Given the description of an element on the screen output the (x, y) to click on. 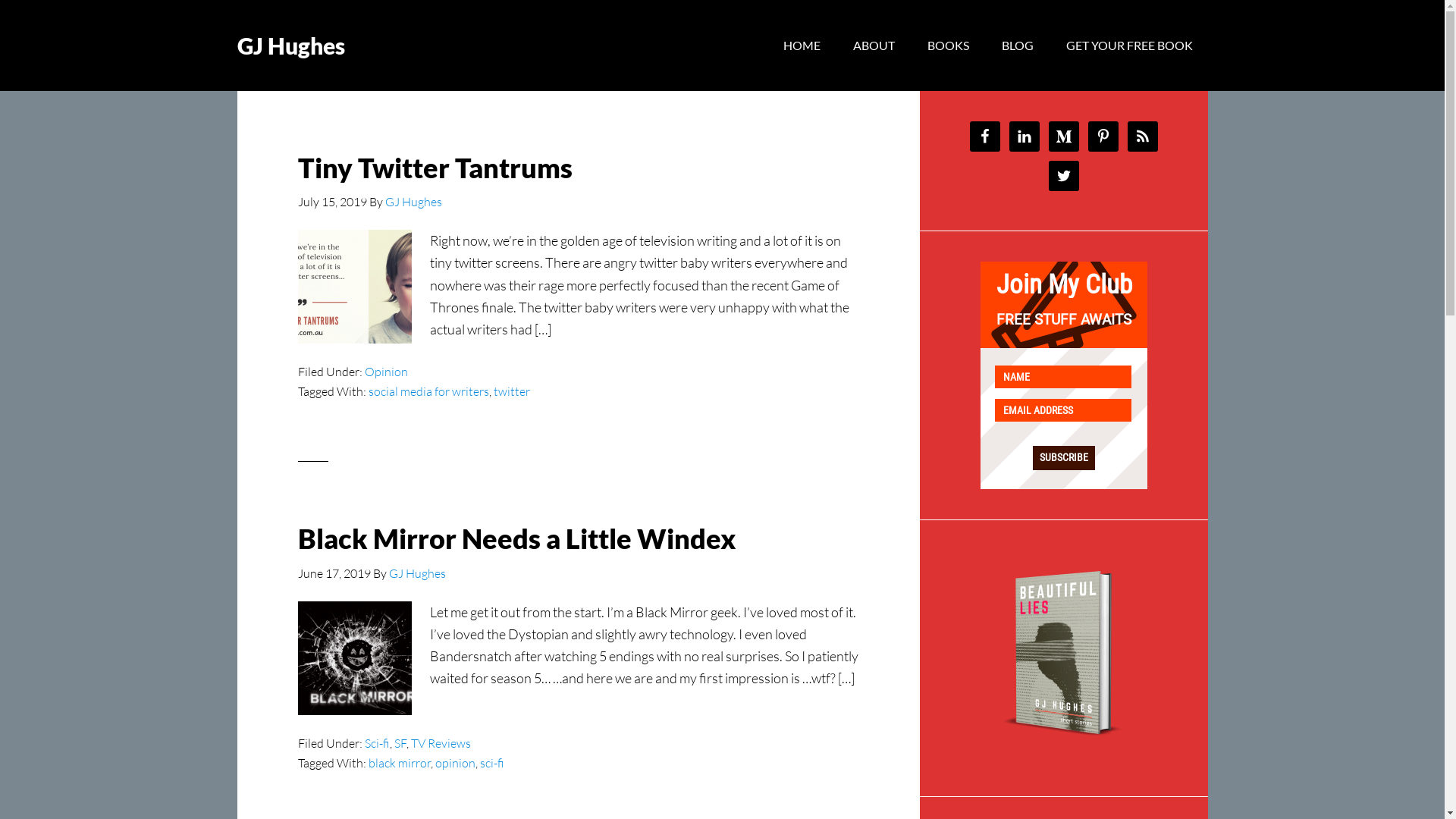
GET YOUR FREE BOOK Element type: text (1129, 45)
Opinion Element type: text (385, 371)
TV Reviews Element type: text (440, 742)
BLOG Element type: text (1016, 45)
GJ Hughes Element type: text (416, 572)
sci-fi Element type: text (491, 762)
SF Element type: text (400, 742)
social media for writers Element type: text (428, 390)
GJ Hughes Element type: text (290, 45)
ABOUT Element type: text (873, 45)
twitter Element type: text (510, 390)
BOOKS Element type: text (947, 45)
opinion Element type: text (455, 762)
Sci-fi Element type: text (376, 742)
Tiny Twitter Tantrums Element type: text (434, 167)
HOME Element type: text (800, 45)
black mirror Element type: text (399, 762)
GJ Hughes Element type: text (413, 201)
Black Mirror Needs a Little Windex Element type: text (516, 538)
